Given the description of an element on the screen output the (x, y) to click on. 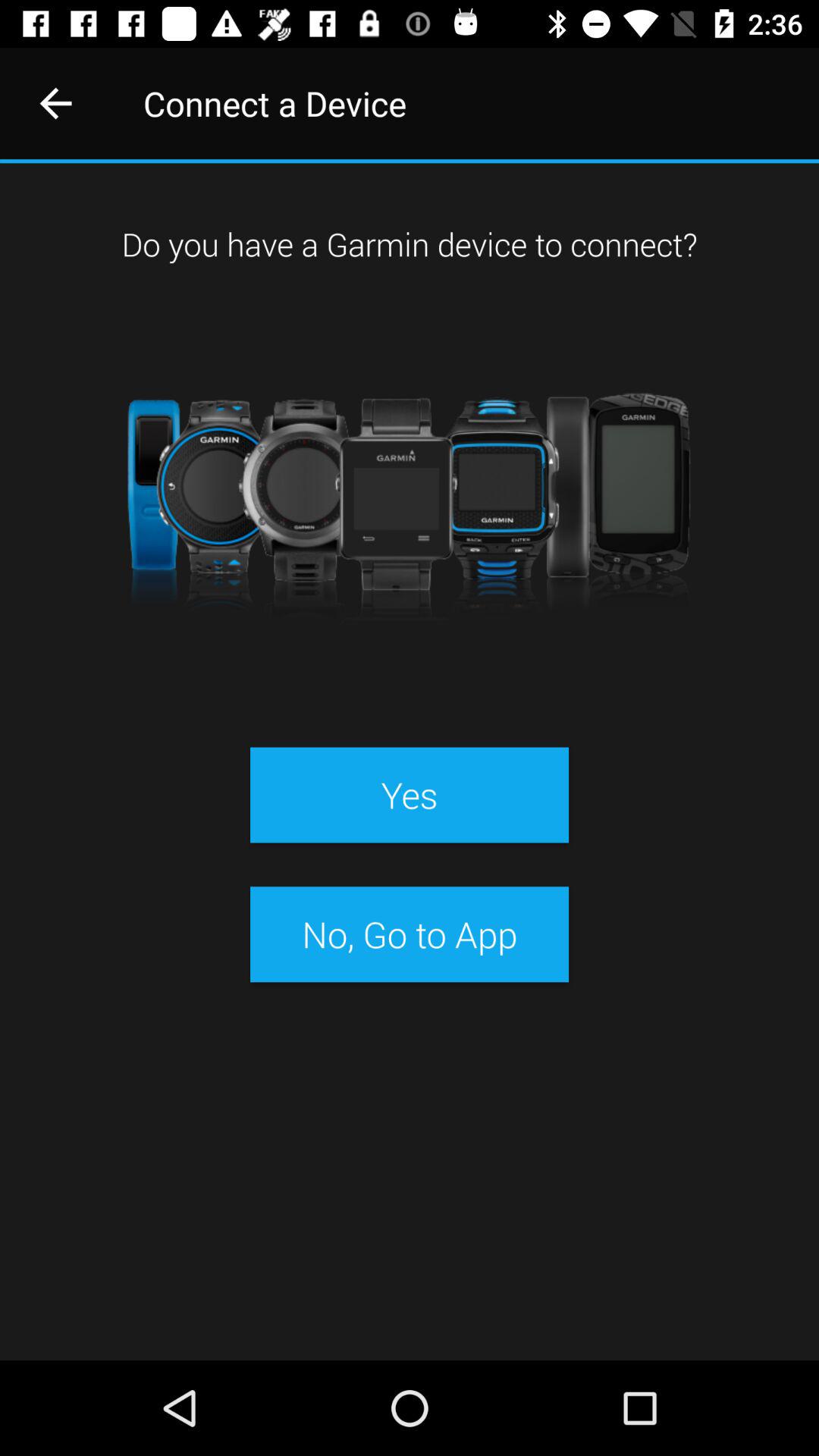
choose yes item (409, 794)
